Given the description of an element on the screen output the (x, y) to click on. 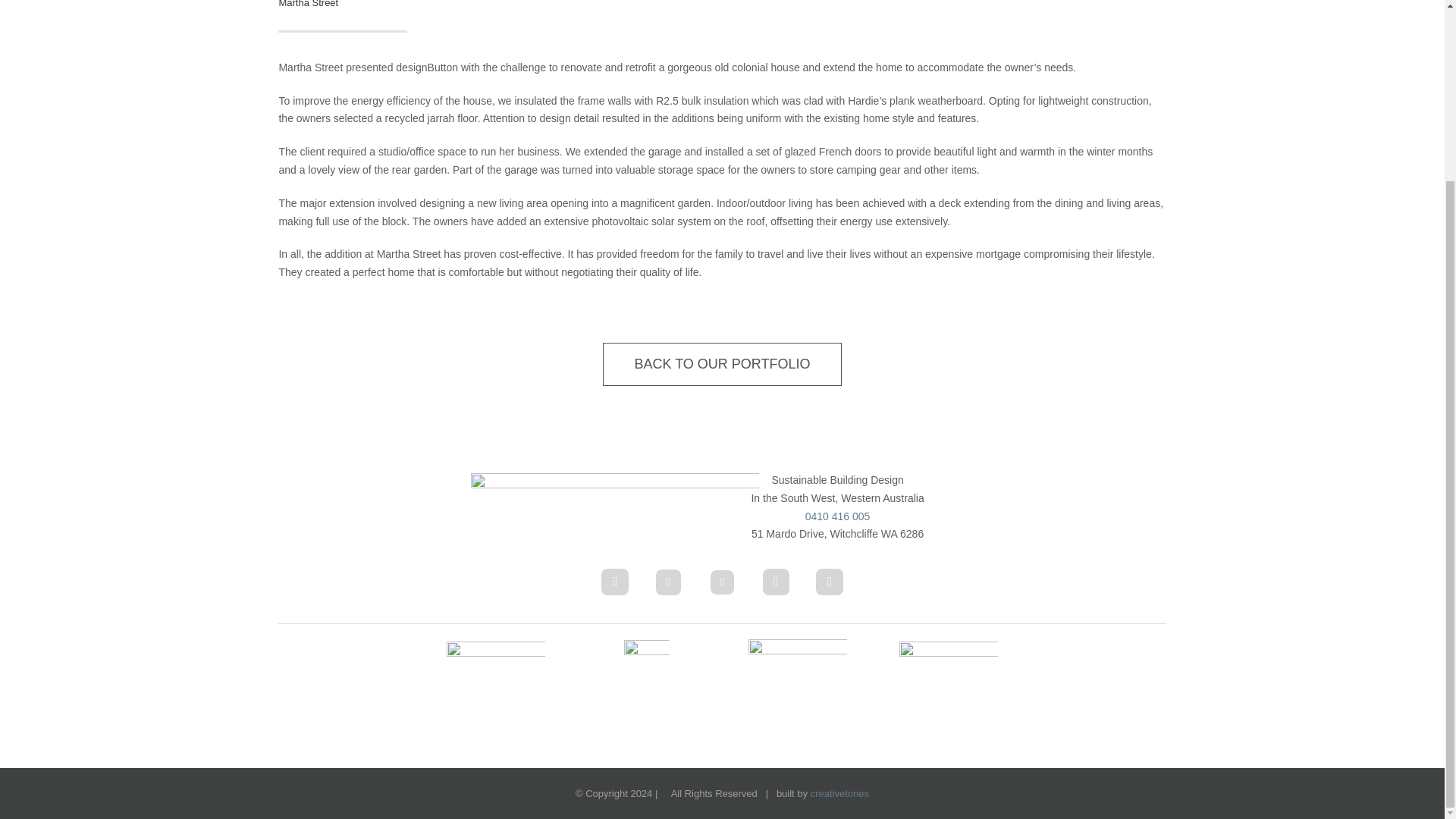
creativetones (839, 793)
designButton-master-builders-logo (646, 661)
designButton-new-logo-grey (614, 507)
designButton-design-matters-logo (797, 661)
designButton-greensmart-award (495, 661)
0410 416 005 (837, 516)
BACK TO OUR PORTFOLIO (721, 364)
